Given the description of an element on the screen output the (x, y) to click on. 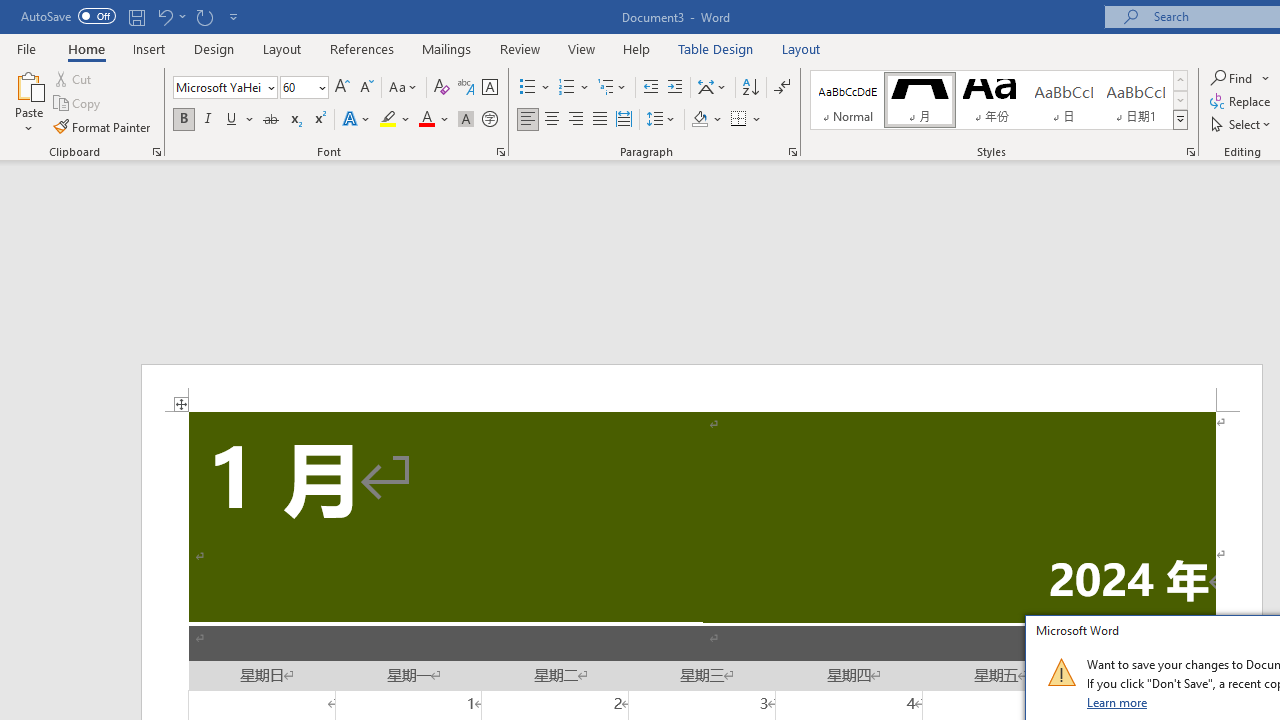
Learn more (1118, 702)
